Given the description of an element on the screen output the (x, y) to click on. 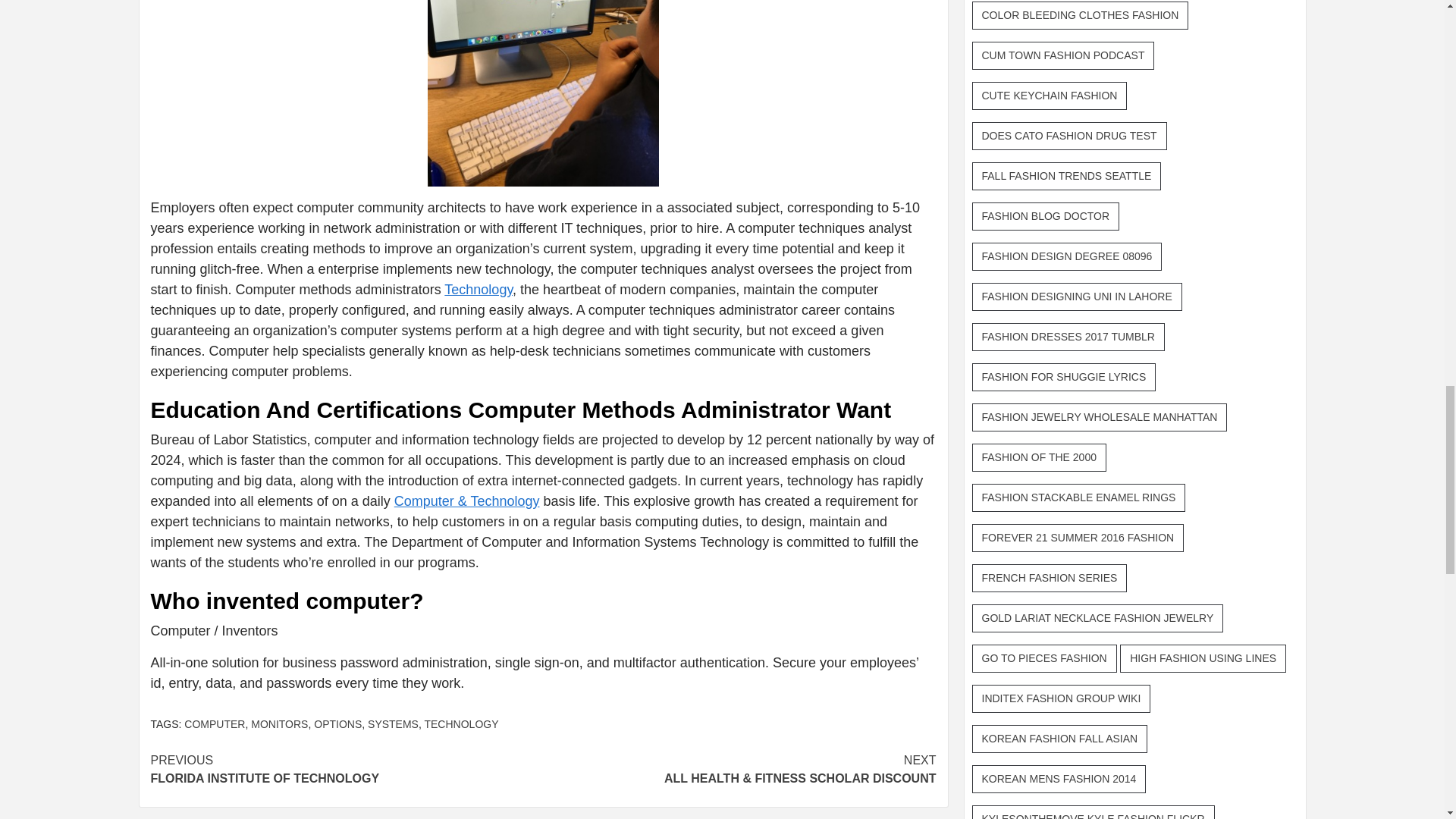
COMPUTER (214, 724)
TECHNOLOGY (346, 769)
OPTIONS (460, 724)
SYSTEMS (337, 724)
Technology (393, 724)
MONITORS (478, 289)
